Given the description of an element on the screen output the (x, y) to click on. 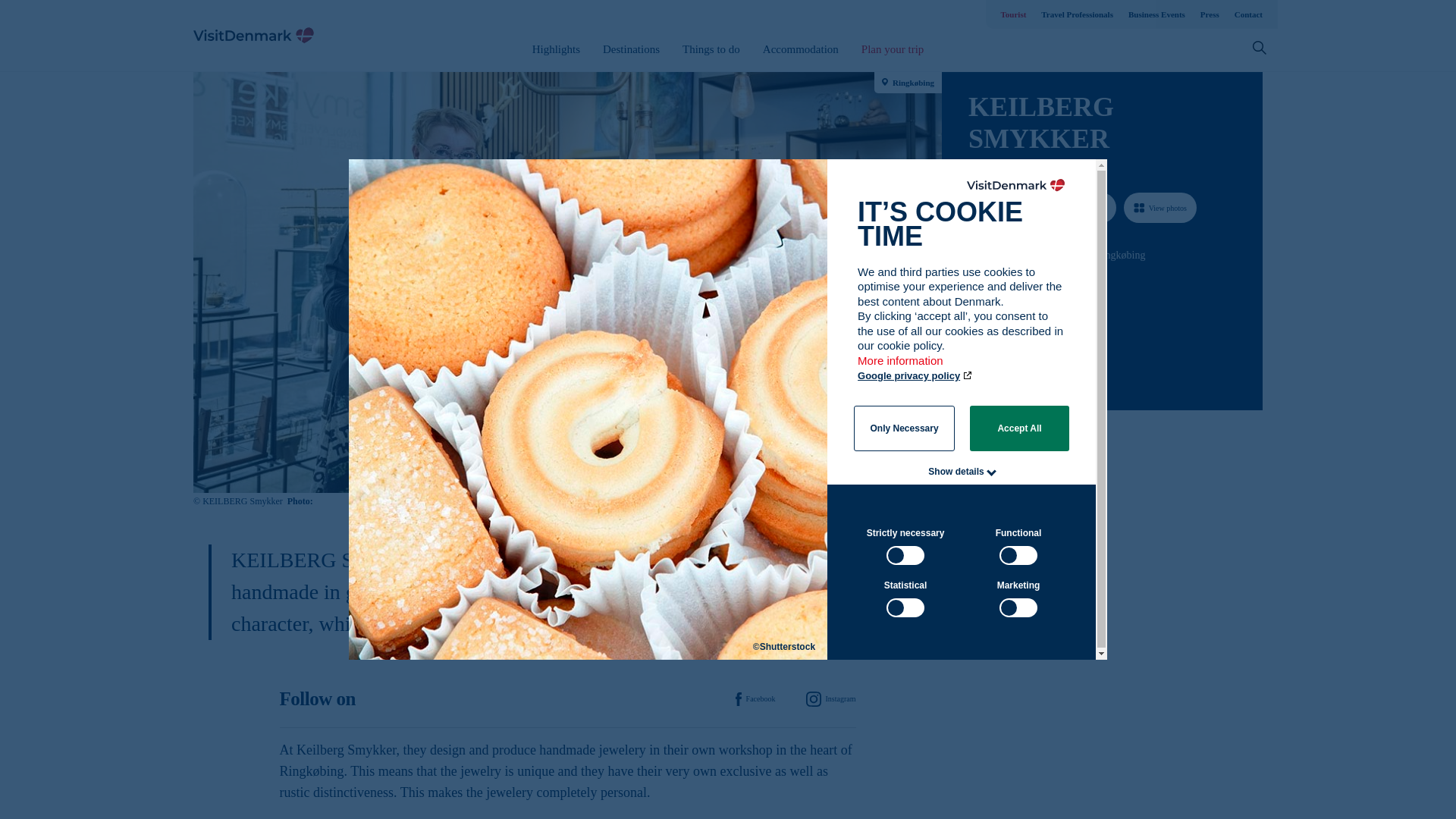
More information (900, 367)
Google privacy policy (915, 375)
Path (973, 342)
Accept All (1018, 428)
Only Necessary (904, 428)
Show details (956, 471)
